Given the description of an element on the screen output the (x, y) to click on. 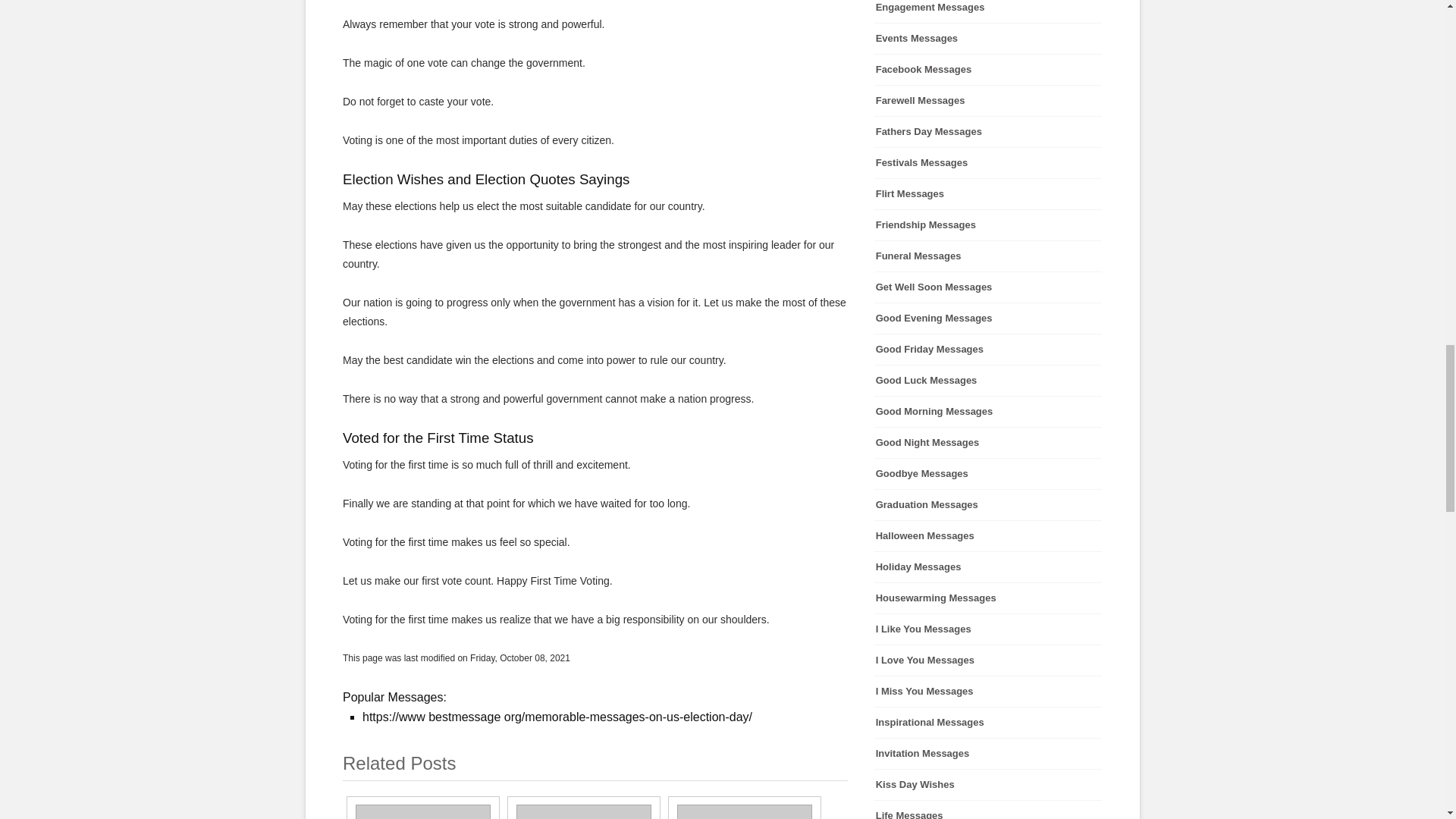
National Work Like A Dog Day Messages, Quotes (735, 811)
Oyster Day Messages: Oyster Slogans, Quotes and Captions (414, 811)
National Work Like A Dog Day Messages, Quotes (735, 811)
Traffic Light Day Quotes, Sayings and Captions (575, 811)
Traffic Light Day Quotes, Sayings and Captions (575, 811)
Oyster Day Messages: Oyster Slogans, Quotes and Captions (414, 811)
